Given the description of an element on the screen output the (x, y) to click on. 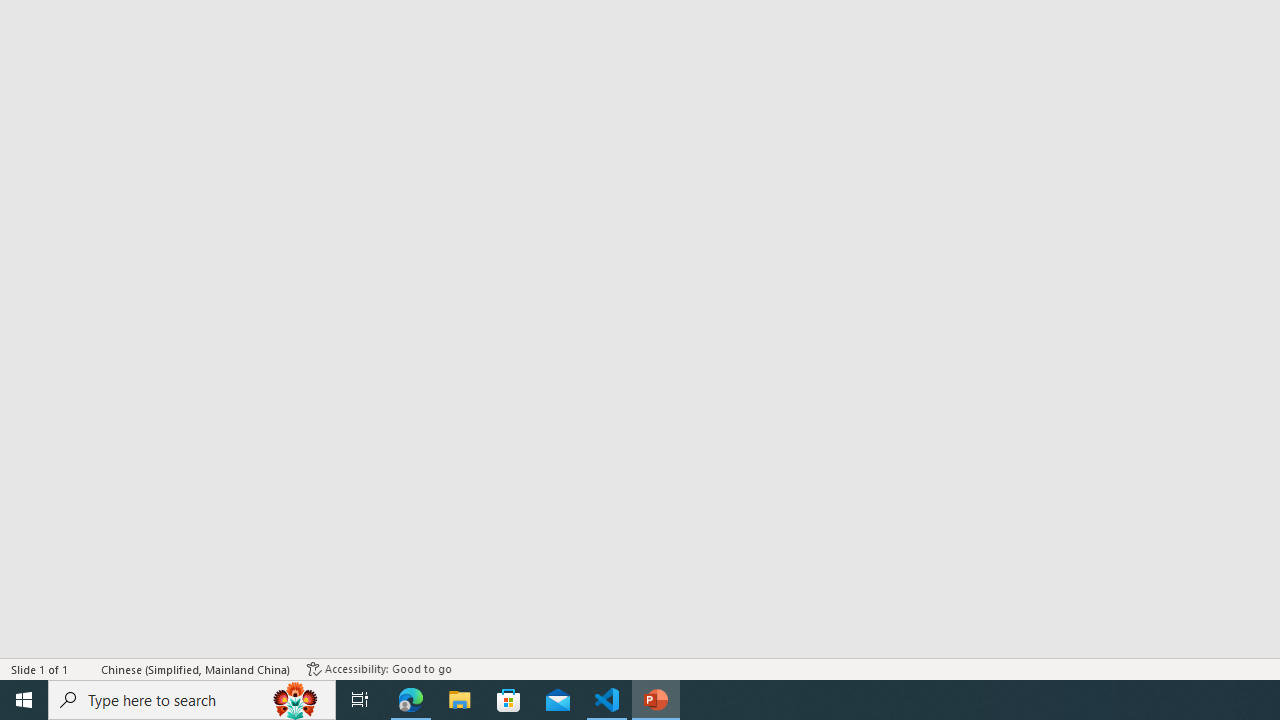
Spell Check  (86, 668)
